Given the description of an element on the screen output the (x, y) to click on. 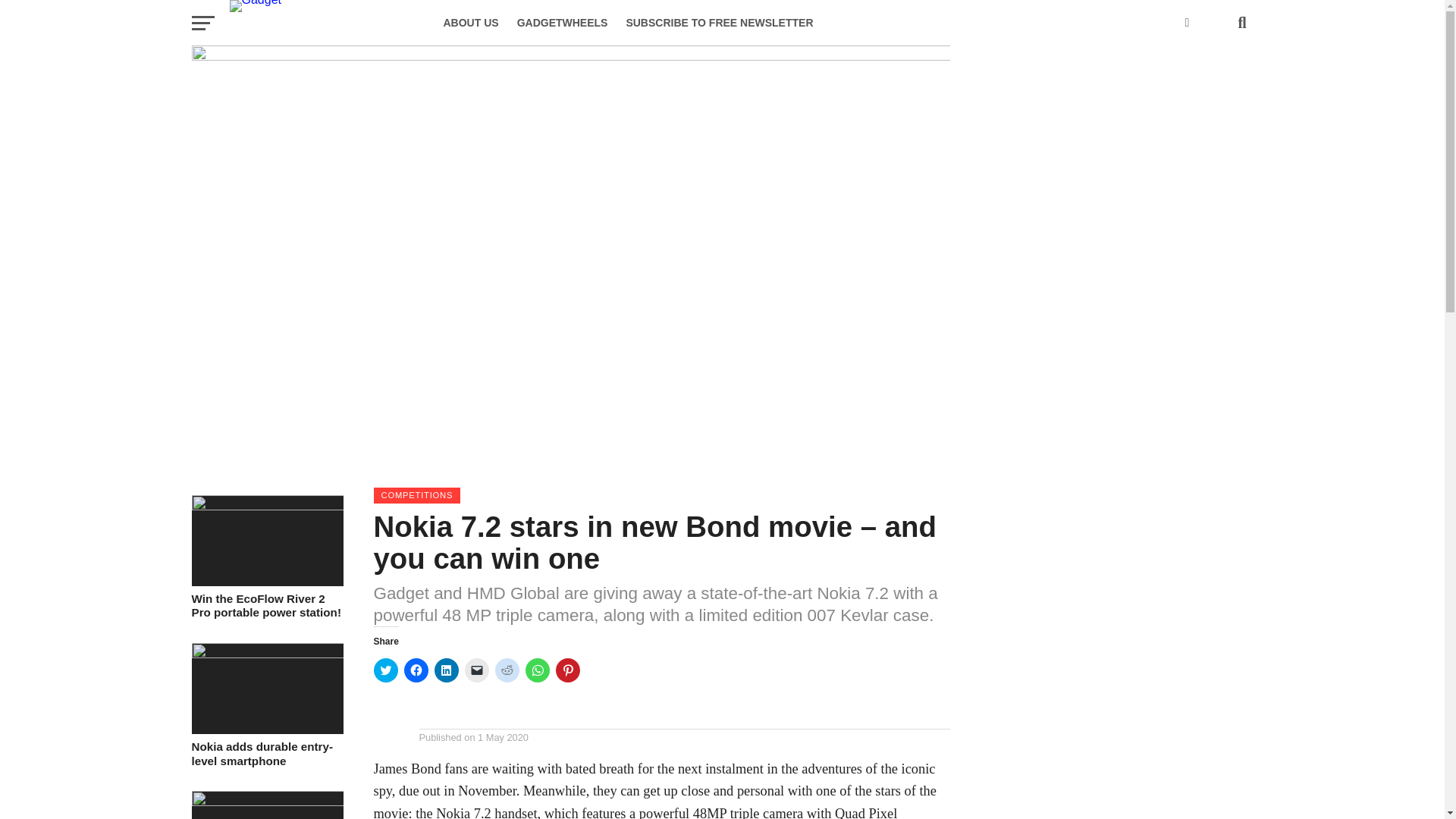
Click to share on Reddit (506, 670)
SUBSCRIBE TO FREE NEWSLETTER (718, 22)
Second Nokia tablet promises portable power (266, 801)
Click to share on Twitter (384, 670)
GADGETWHEELS (562, 22)
Click to share on Facebook (415, 670)
Win the EcoFlow River 2 Pro portable power station! (266, 504)
Click to share on LinkedIn (445, 670)
Win the EcoFlow River 2 Pro portable power station! (266, 605)
Nokia adds durable entry-level smartphone (266, 754)
Click to share on Pinterest (566, 670)
ABOUT US (469, 22)
Click to email a link to a friend (475, 670)
Nokia adds durable entry-level smartphone (266, 653)
Click to share on WhatsApp (536, 670)
